Given the description of an element on the screen output the (x, y) to click on. 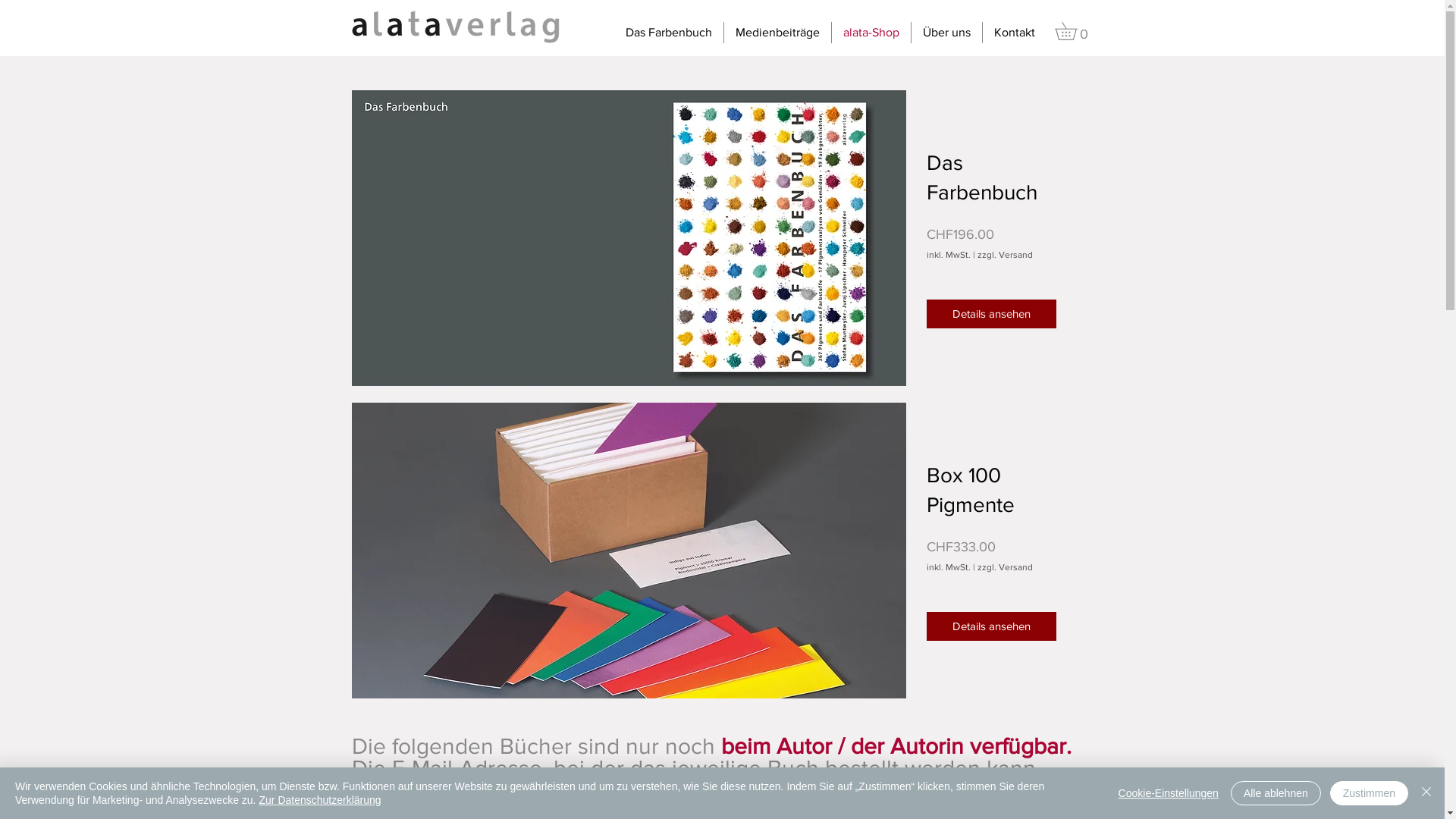
Alle ablehnen Element type: text (1275, 793)
alata-Shop Element type: text (870, 32)
Kontakt Element type: text (1014, 32)
zzgl. Versand Element type: text (1004, 567)
zzgl. Versand Element type: text (1004, 254)
Das Farbenbuch Element type: text (668, 32)
0 Element type: text (1073, 30)
Details ansehen Element type: text (991, 314)
Zustimmen Element type: text (1369, 793)
Details ansehen Element type: text (991, 626)
